Given the description of an element on the screen output the (x, y) to click on. 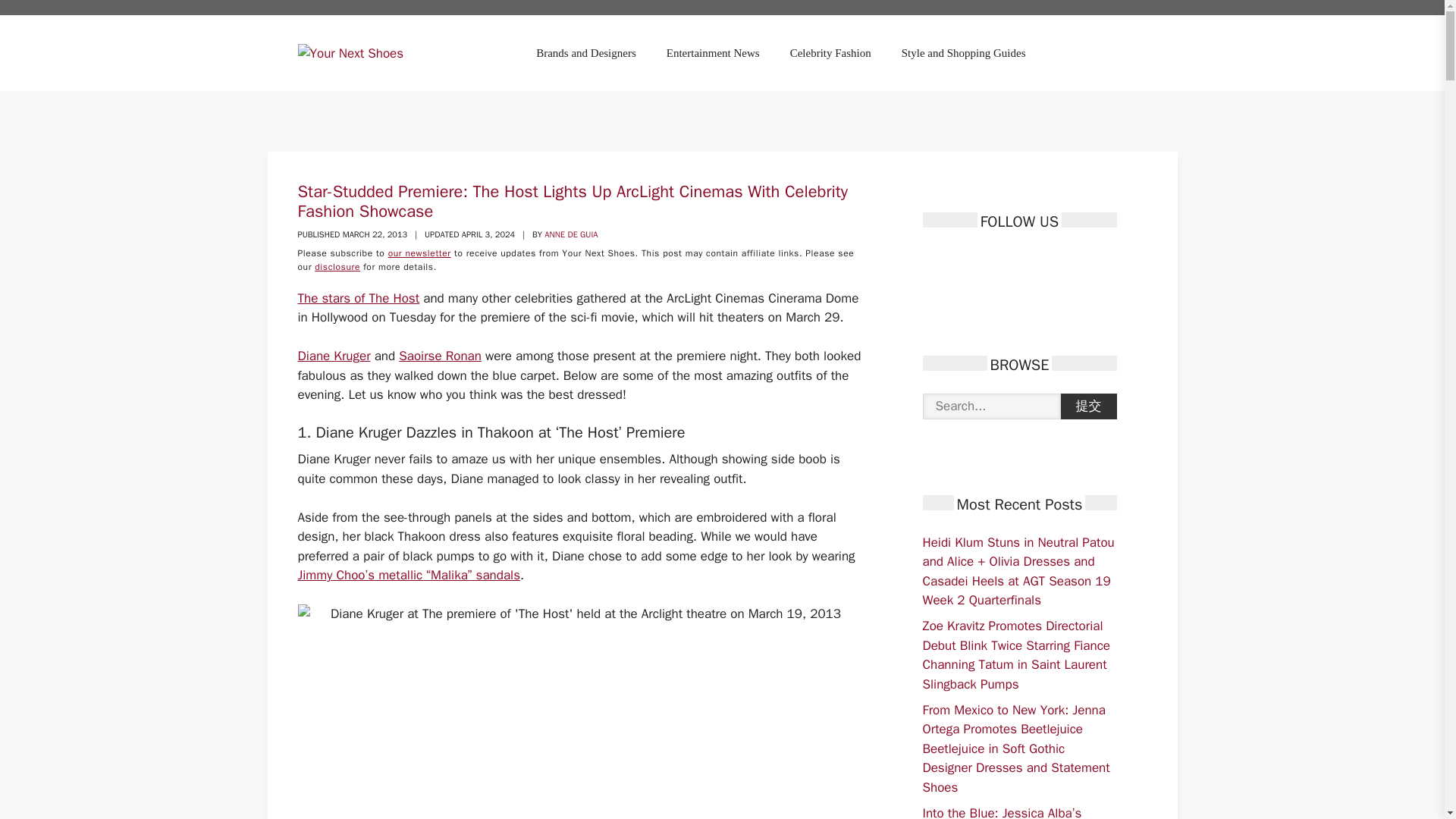
Brands and Designers (585, 53)
Diane Kruger (333, 355)
Style and Shopping Guides (963, 53)
ANNE DE GUIA (570, 234)
our newsletter (419, 253)
disclosure (336, 266)
Entertainment News (712, 53)
Instagram (1014, 261)
Saoirse Ronan (439, 355)
Celebrity Fashion (830, 53)
